Given the description of an element on the screen output the (x, y) to click on. 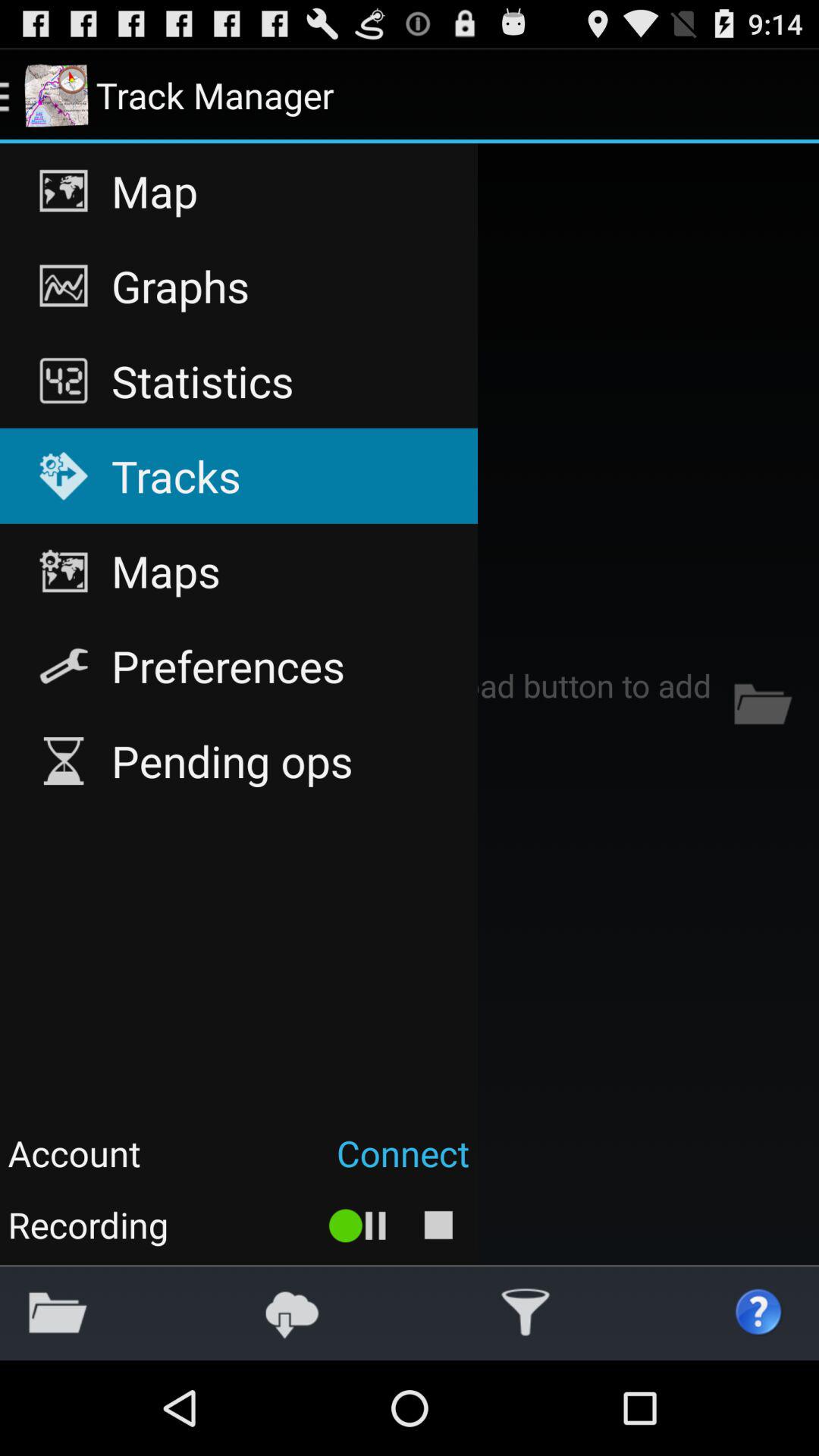
tap the icon to the right of the recording app (358, 1224)
